Given the description of an element on the screen output the (x, y) to click on. 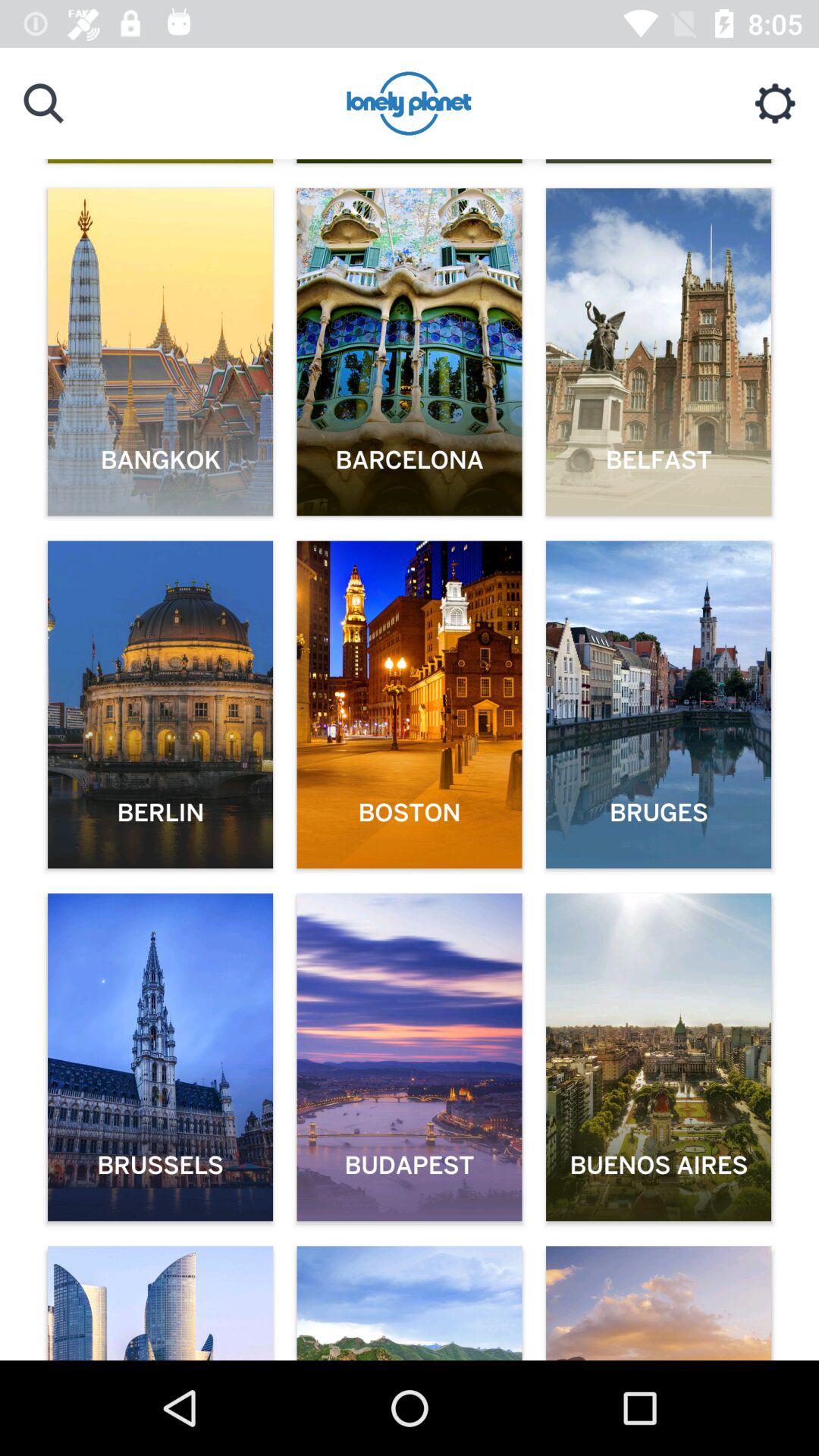
click on the 2nd image with budapest word on it at the bottom of the page (409, 1057)
click on the second row third image (658, 704)
click on lonely planet logo at the top (409, 105)
